Given the description of an element on the screen output the (x, y) to click on. 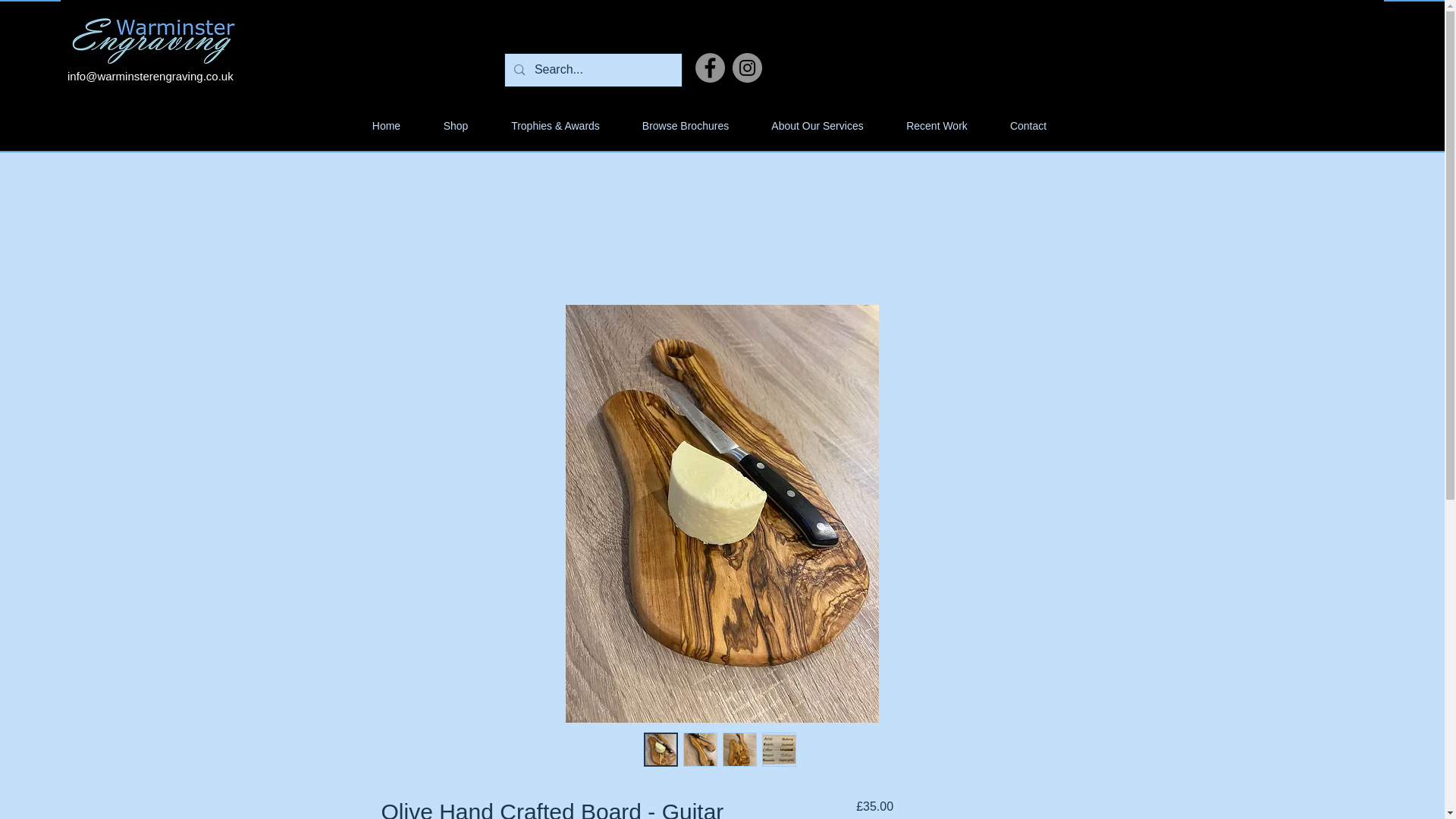
About Our Services (817, 125)
Recent Work (936, 125)
Home (386, 125)
Browse Brochures (685, 125)
Shop (455, 125)
Contact (1028, 125)
